Given the description of an element on the screen output the (x, y) to click on. 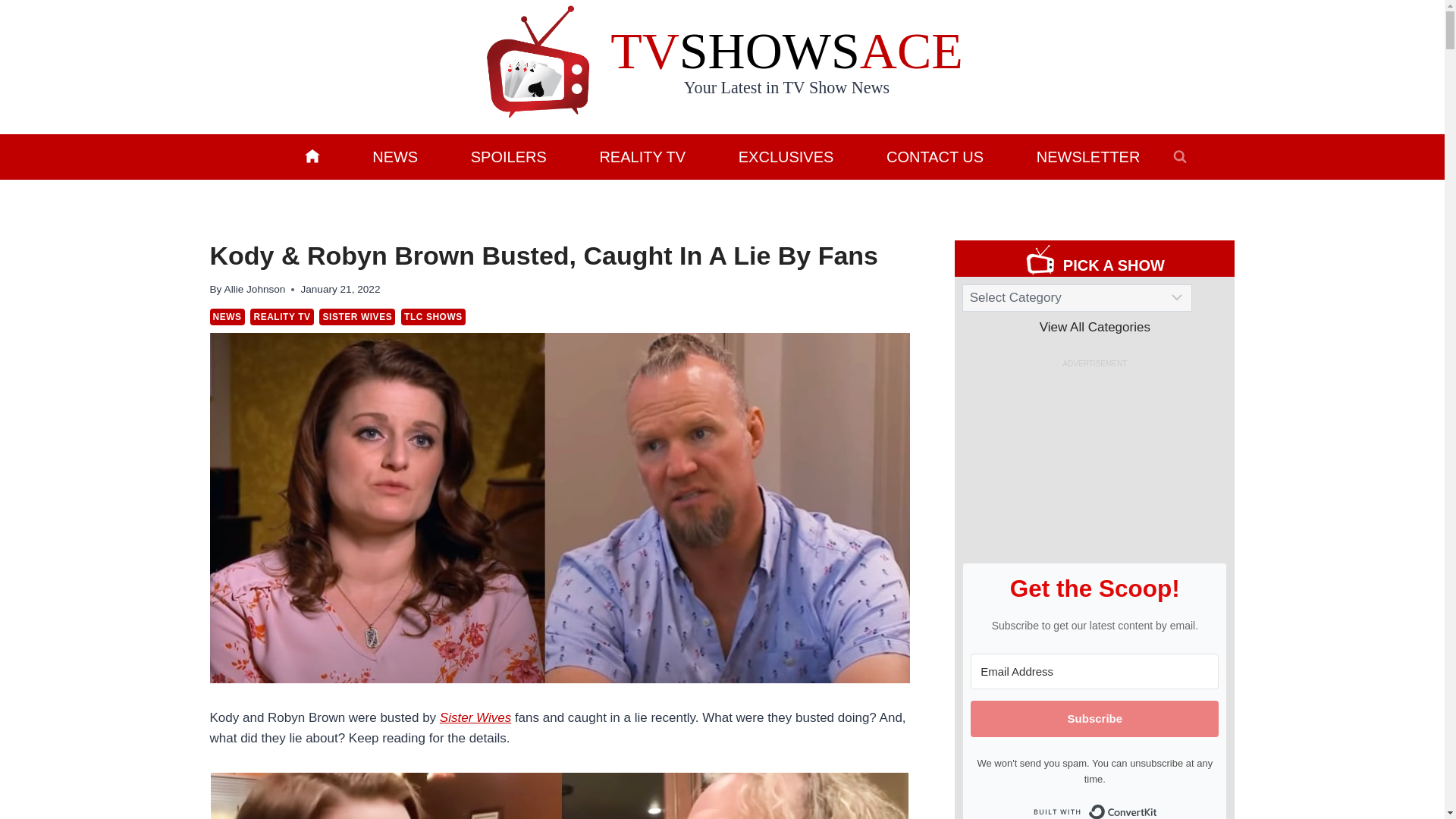
REALITY TV (281, 316)
TLC SHOWS (433, 316)
Sister Wives (475, 717)
NEWSLETTER (1088, 156)
NEWS (395, 156)
SISTER WIVES (356, 316)
Allie Johnson (254, 288)
SPOILERS (508, 156)
REALITY TV (642, 156)
NEWS (226, 316)
CONTACT US (935, 156)
EXCLUSIVES (785, 156)
